Given the description of an element on the screen output the (x, y) to click on. 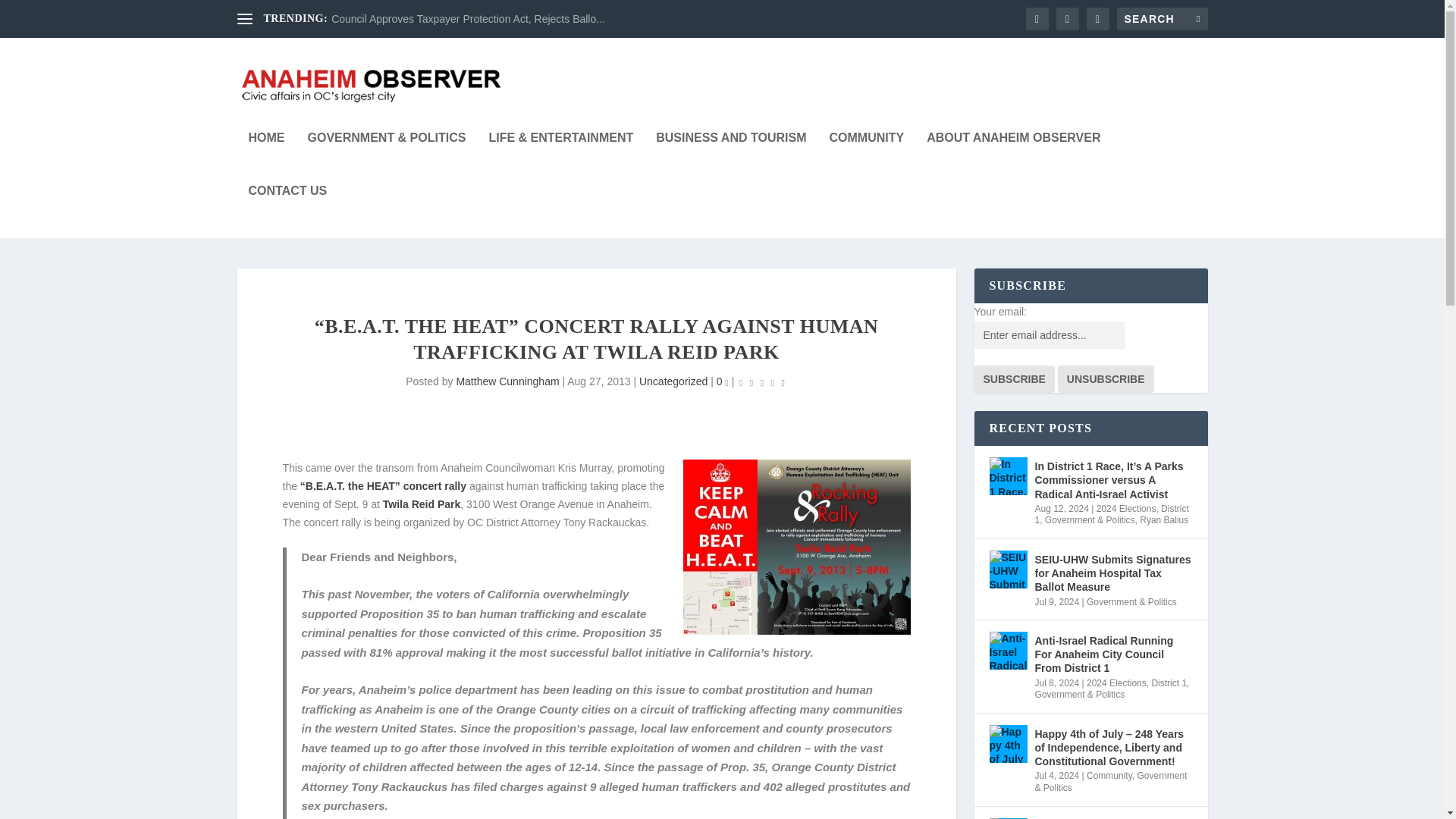
Enter email address... (1049, 334)
Search for: (1161, 18)
0 (722, 381)
Rating: 0.00 (761, 382)
Subscribe (1014, 379)
CONTACT US (287, 211)
Uncategorized (673, 381)
Unsubscribe (1106, 379)
Posts by Matthew Cunningham (507, 381)
Council Approves Taxpayer Protection Act, Rejects Ballo... (468, 19)
